Given the description of an element on the screen output the (x, y) to click on. 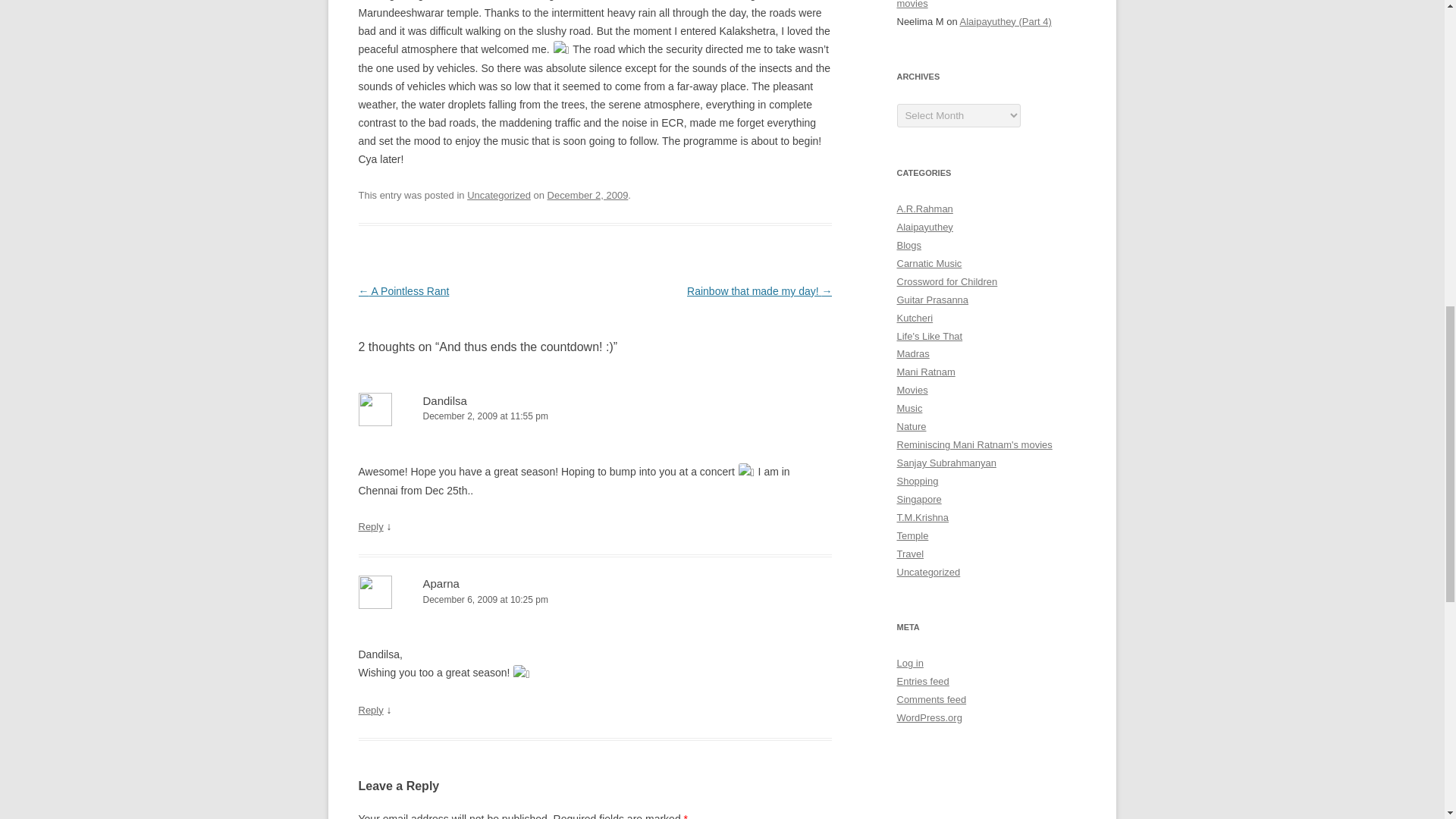
Blogs (908, 244)
Uncategorized (499, 194)
December 6, 2009 at 10:25 pm (594, 600)
Reply (370, 709)
6:36 pm (587, 194)
December 2, 2009 at 11:55 pm (594, 416)
Alaipayuthey (924, 226)
Life's Like That (929, 336)
Kutcheri (914, 317)
Reply (370, 526)
December 2, 2009 (587, 194)
Aparna (441, 583)
Crossword for Children (946, 281)
Guitar Prasanna (932, 299)
A.R.Rahman (924, 208)
